Given the description of an element on the screen output the (x, y) to click on. 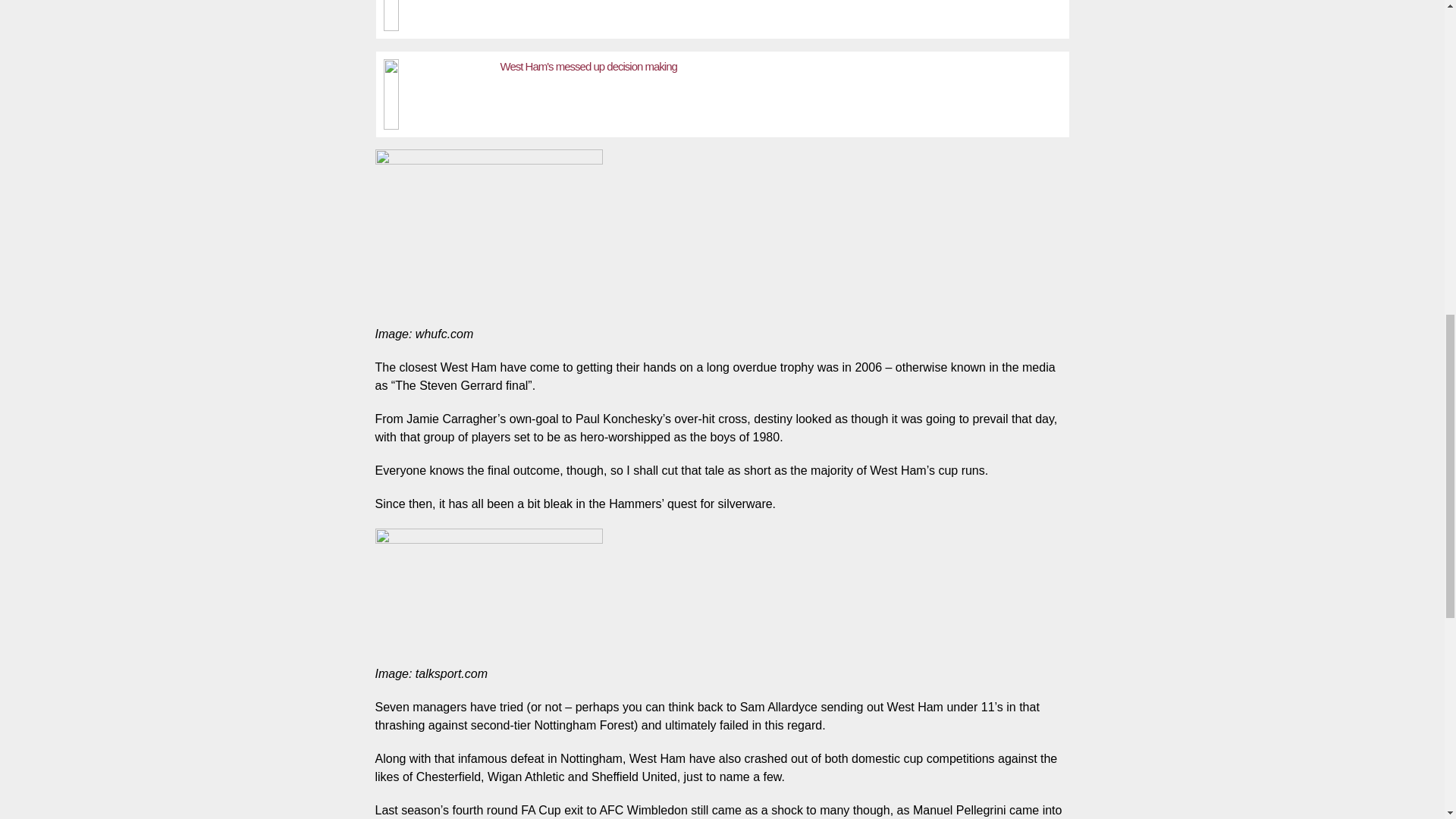
West Ham's messed up decision making (437, 90)
West Ham's messed up decision making (588, 65)
Mistaken Moyes is off his rocker (437, 15)
